Given the description of an element on the screen output the (x, y) to click on. 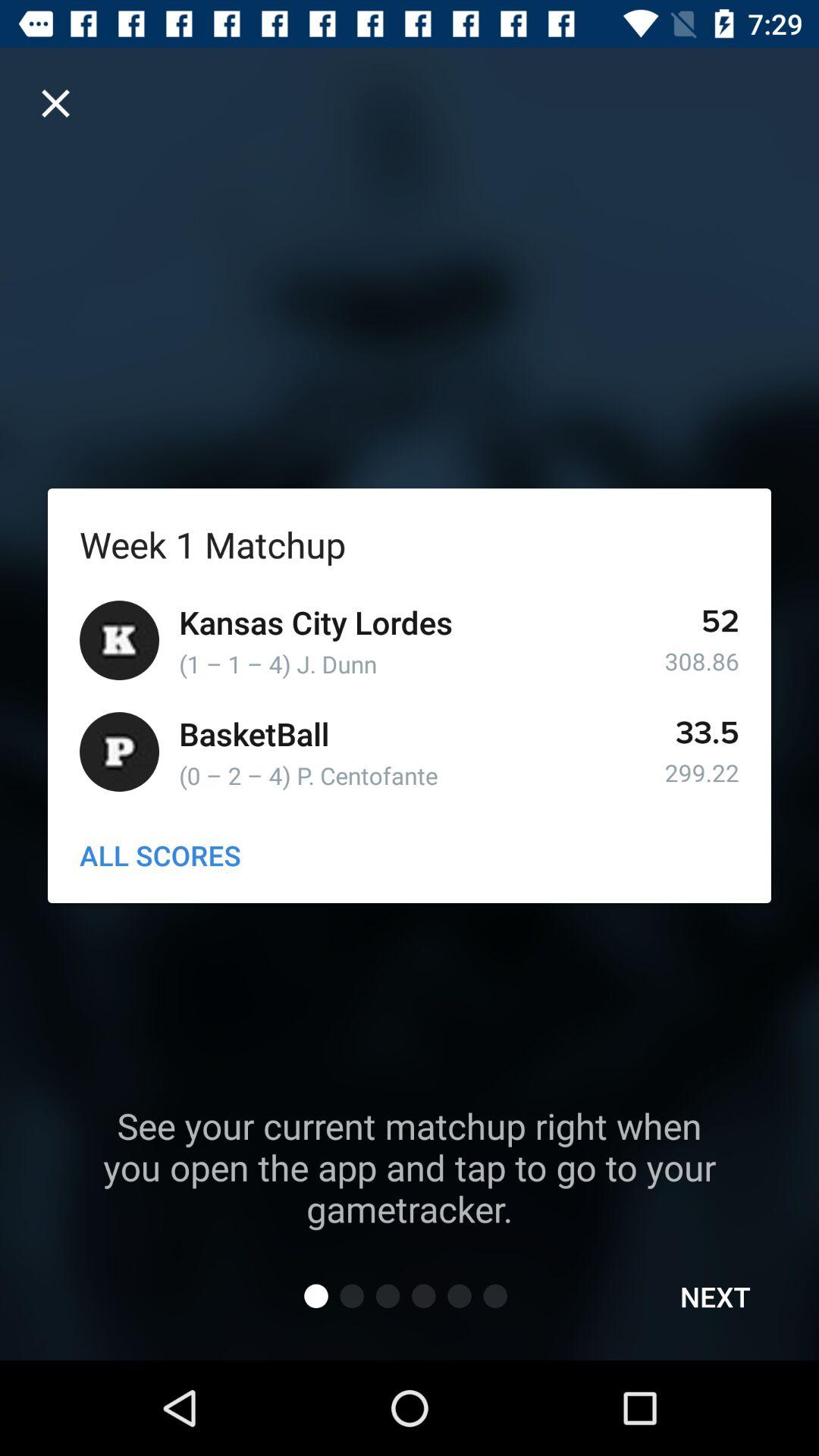
click next (715, 1296)
